Given the description of an element on the screen output the (x, y) to click on. 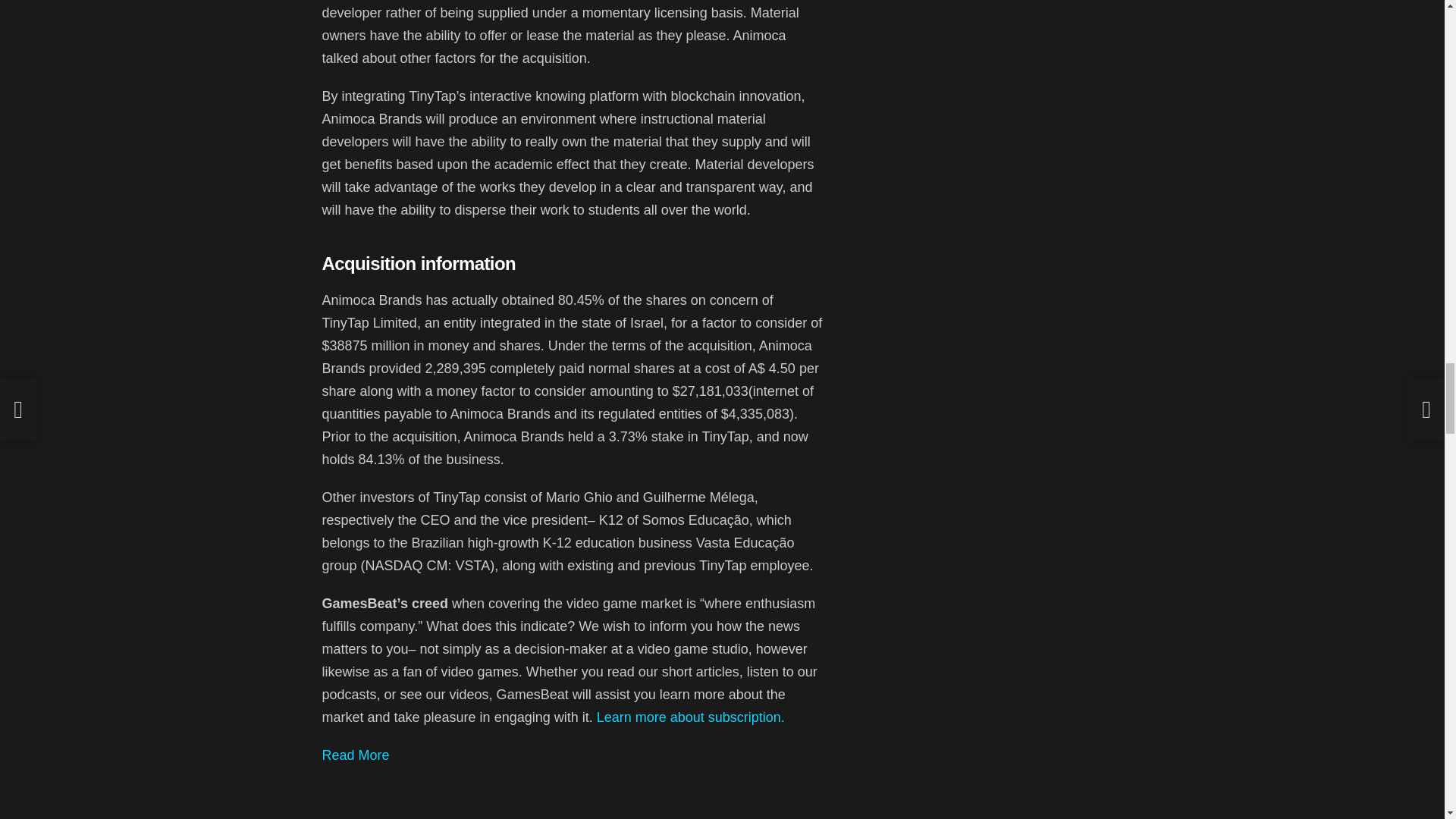
Read More (354, 754)
Learn more about subscription. (690, 717)
